Given the description of an element on the screen output the (x, y) to click on. 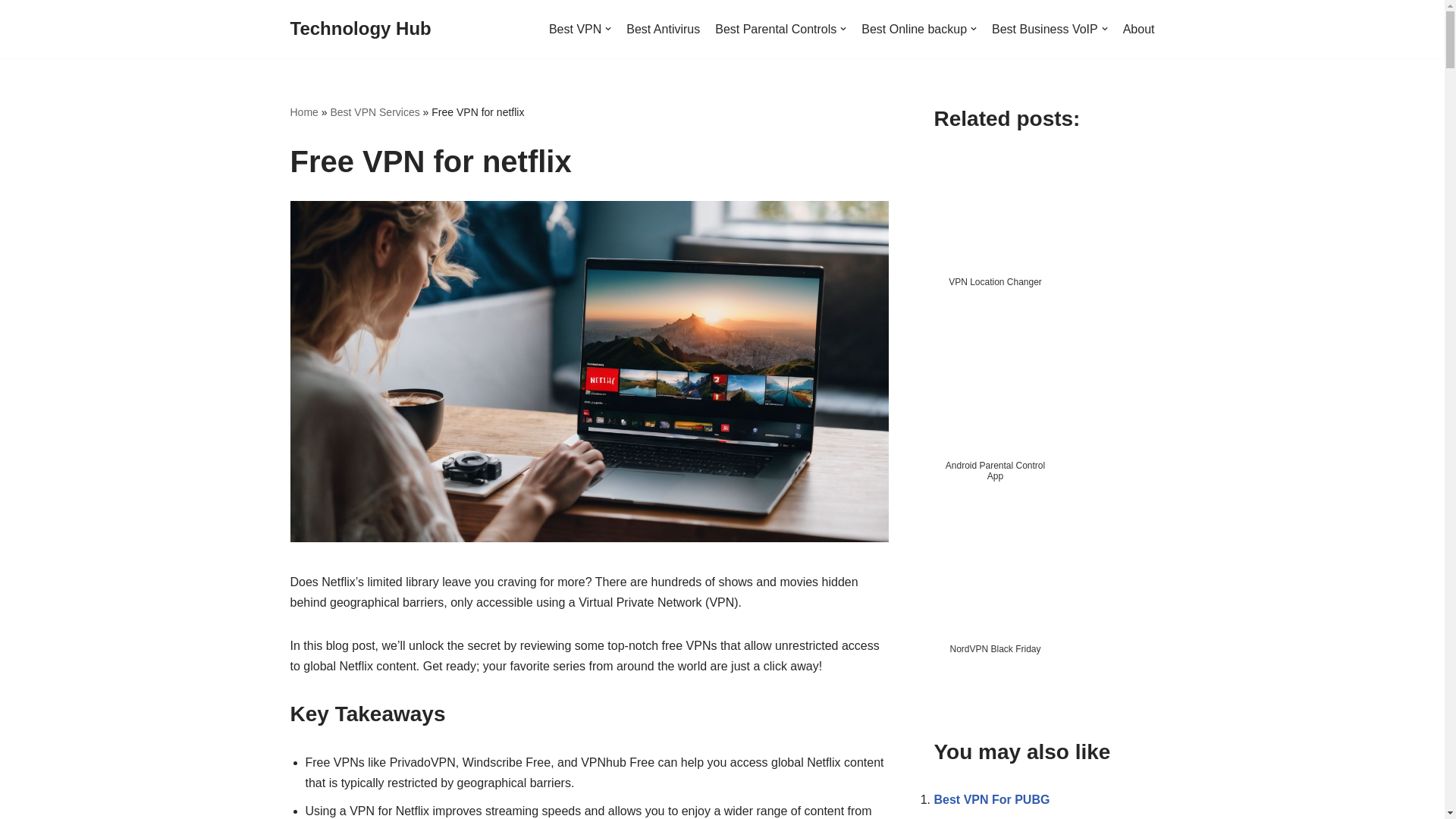
Best Online backup (918, 29)
Skip to content (11, 31)
Technology Hub (359, 29)
Technology Hub (359, 29)
Best Parental Controls (779, 29)
Best Antivirus (663, 29)
Best Business VoIP (1049, 29)
Best VPN (579, 29)
